Given the description of an element on the screen output the (x, y) to click on. 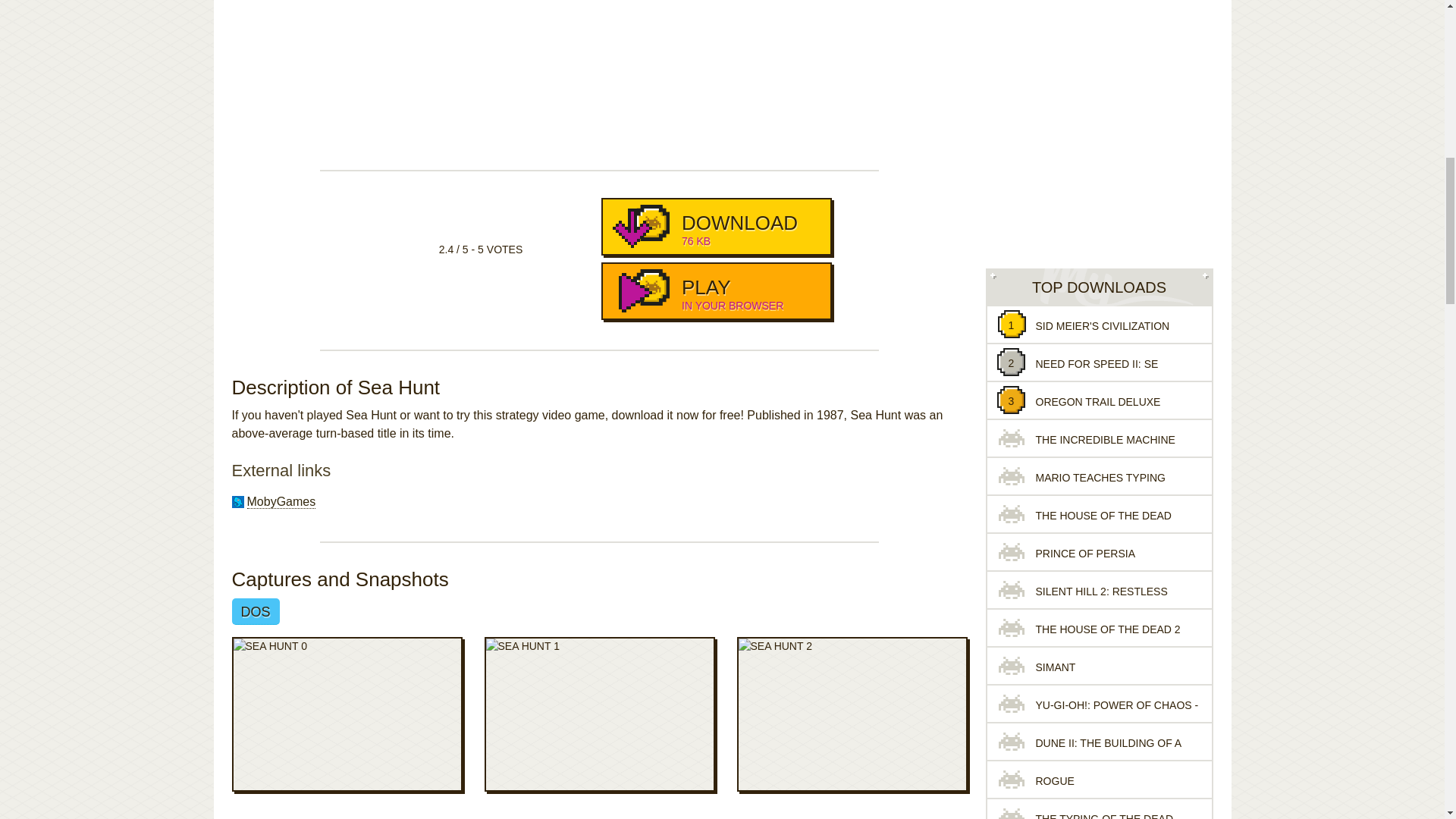
MobyGames (281, 501)
DOS (716, 291)
